Given the description of an element on the screen output the (x, y) to click on. 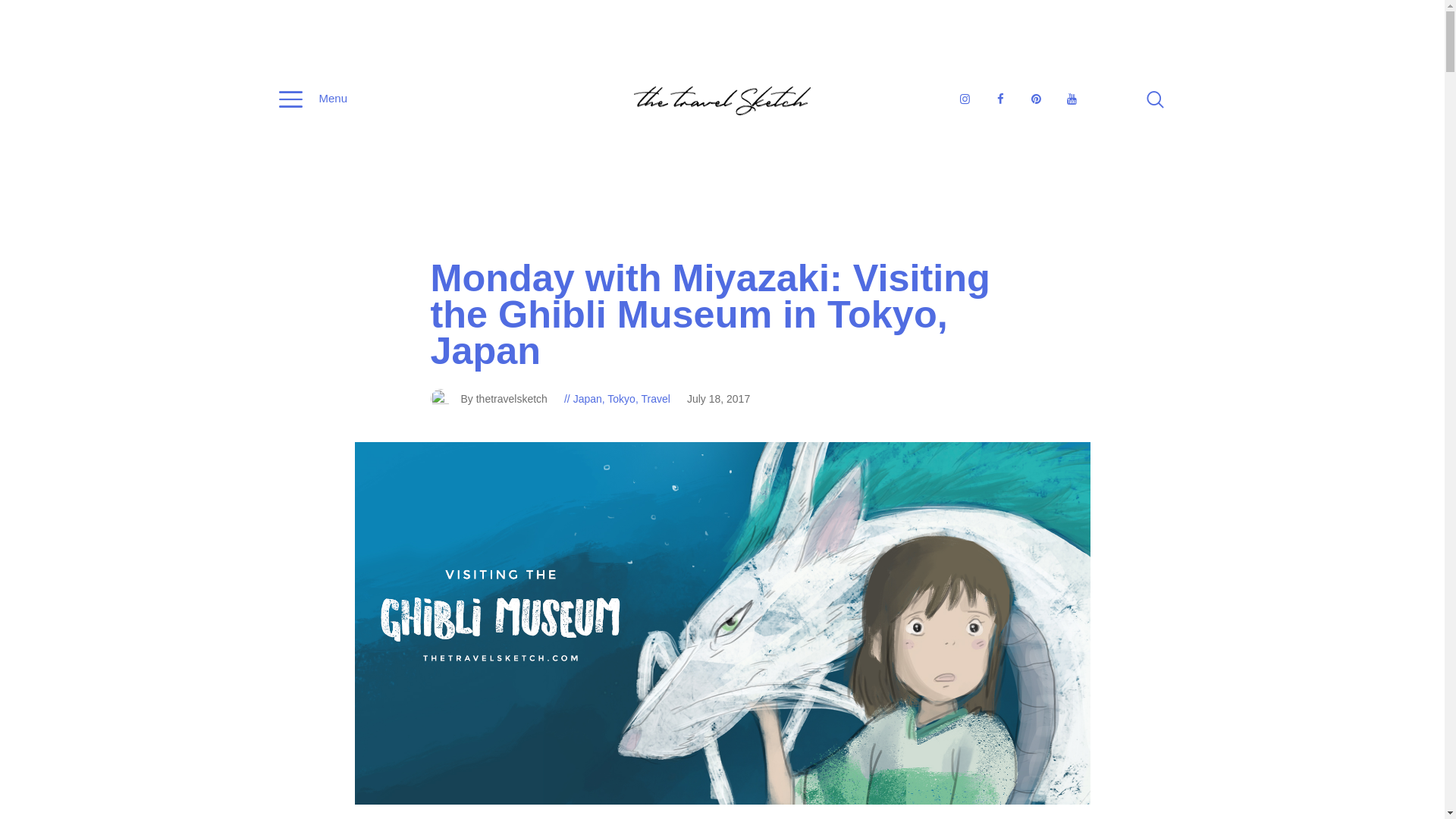
Tokyo (620, 398)
Japan (587, 398)
Menu (313, 100)
Travel (654, 398)
By thetravelsketch (497, 398)
